Given the description of an element on the screen output the (x, y) to click on. 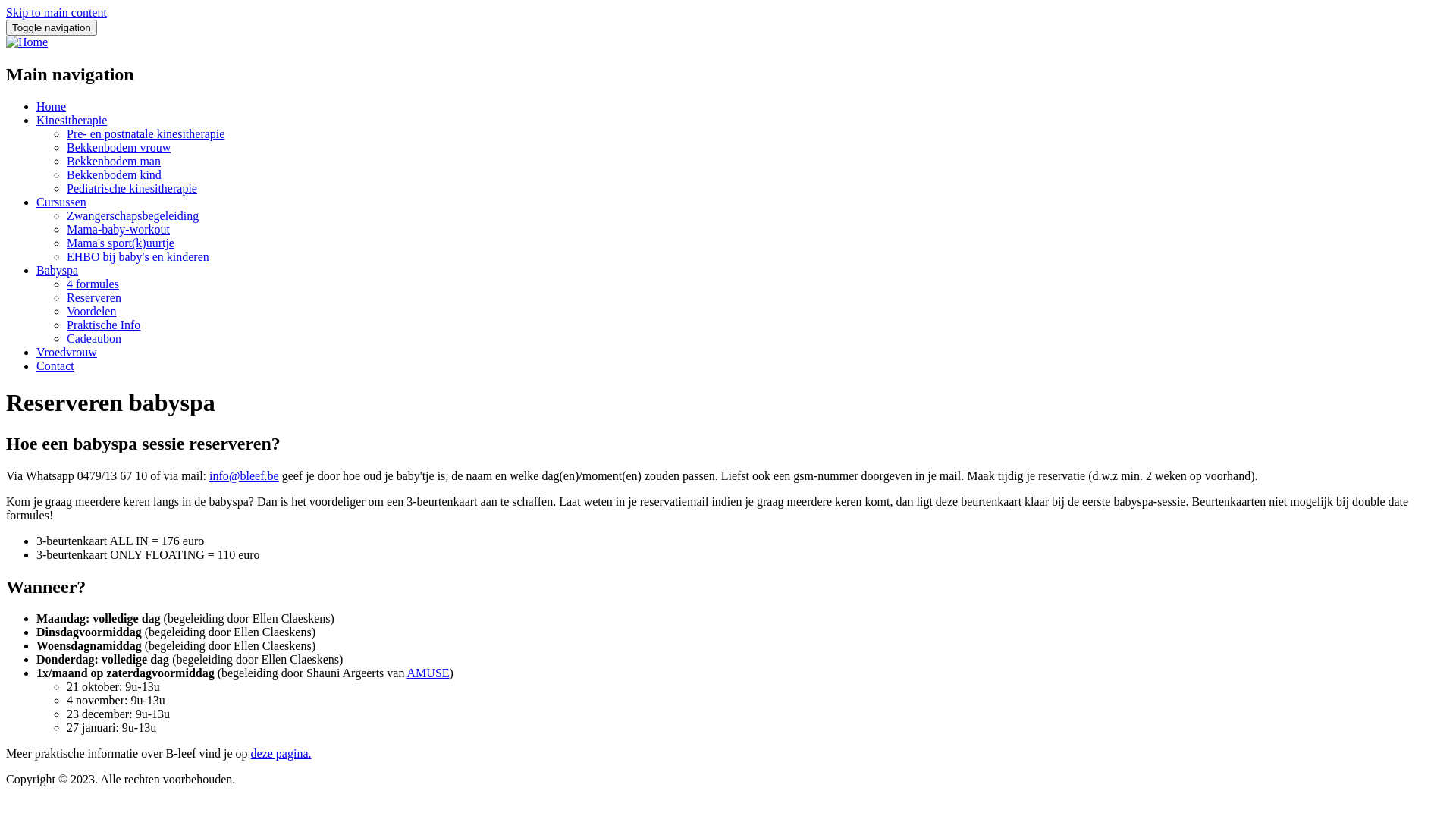
Vroedvrouw Element type: text (66, 351)
Skip to main content Element type: text (56, 12)
Bekkenbodem vrouw Element type: text (118, 147)
deze pagina Element type: text (279, 752)
. Element type: text (308, 752)
Mama-baby-workout Element type: text (117, 228)
Bekkenbodem kind Element type: text (113, 174)
Babyspa Element type: text (57, 269)
info@bleef.be Element type: text (244, 475)
AMUSE Element type: text (428, 672)
Toggle navigation Element type: text (51, 27)
Home Element type: text (50, 106)
Bekkenbodem man Element type: text (113, 160)
Pediatrische kinesitherapie Element type: text (131, 188)
Home Element type: hover (26, 41)
EHBO bij baby's en kinderen Element type: text (137, 256)
Mama's sport(k)uurtje Element type: text (120, 242)
Reserveren Element type: text (93, 297)
Cadeaubon Element type: text (93, 338)
Kinesitherapie Element type: text (71, 119)
Voordelen Element type: text (91, 310)
4 formules Element type: text (92, 283)
Cursussen Element type: text (61, 201)
Contact Element type: text (55, 365)
Pre- en postnatale kinesitherapie Element type: text (145, 133)
Zwangerschapsbegeleiding Element type: text (132, 215)
Praktische Info Element type: text (103, 324)
